Given the description of an element on the screen output the (x, y) to click on. 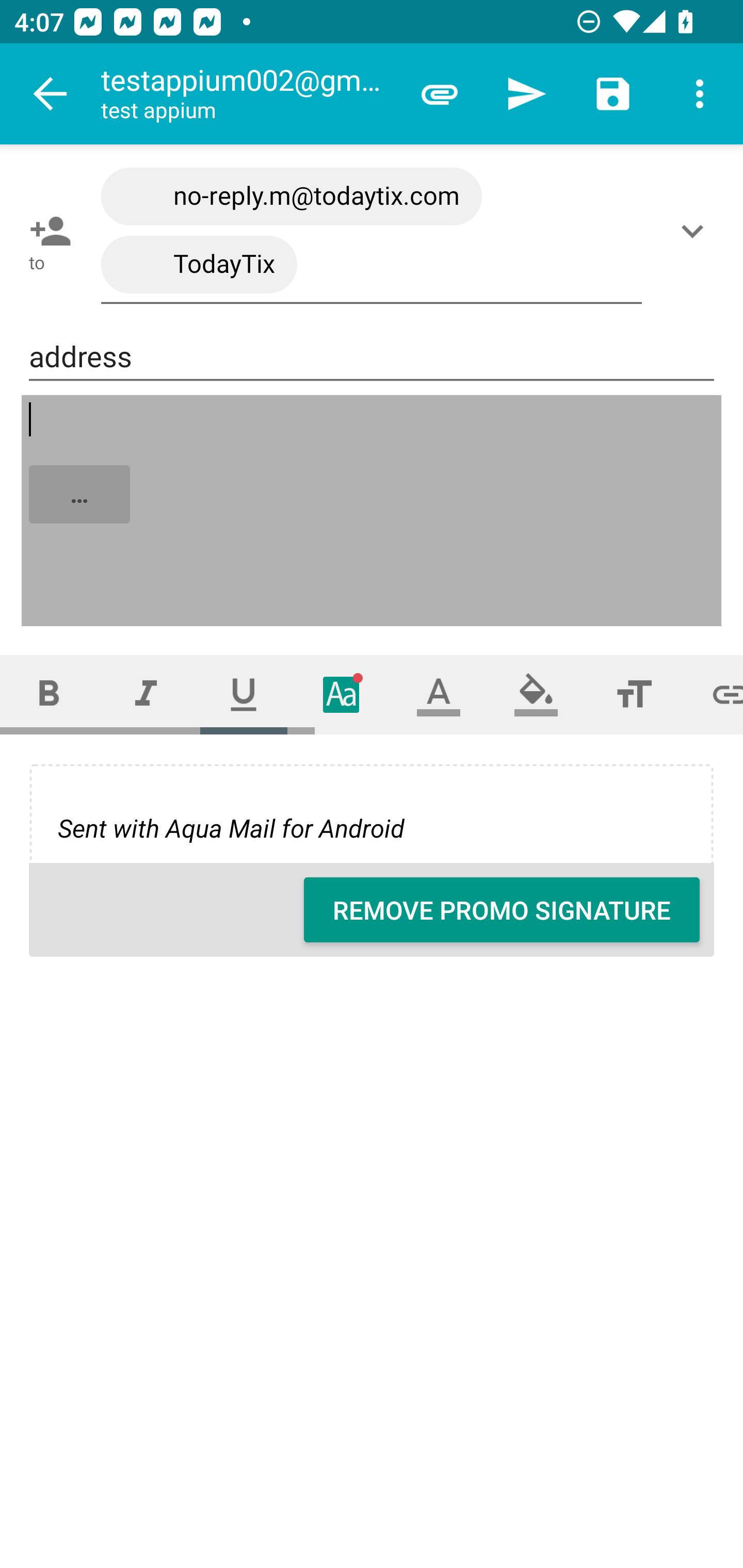
Navigate up (50, 93)
testappium002@gmail.com test appium (248, 93)
Attach (439, 93)
Send (525, 93)
Save (612, 93)
More options (699, 93)
Pick contact: To (46, 231)
Show/Add CC/BCC (696, 231)
address (371, 356)

…
 (372, 511)
Bold (48, 694)
Italic (145, 694)
Underline (243, 694)
Typeface (font) (341, 694)
Text color (438, 694)
Fill color (536, 694)
Font size (633, 694)
REMOVE PROMO SIGNATURE (501, 910)
